Given the description of an element on the screen output the (x, y) to click on. 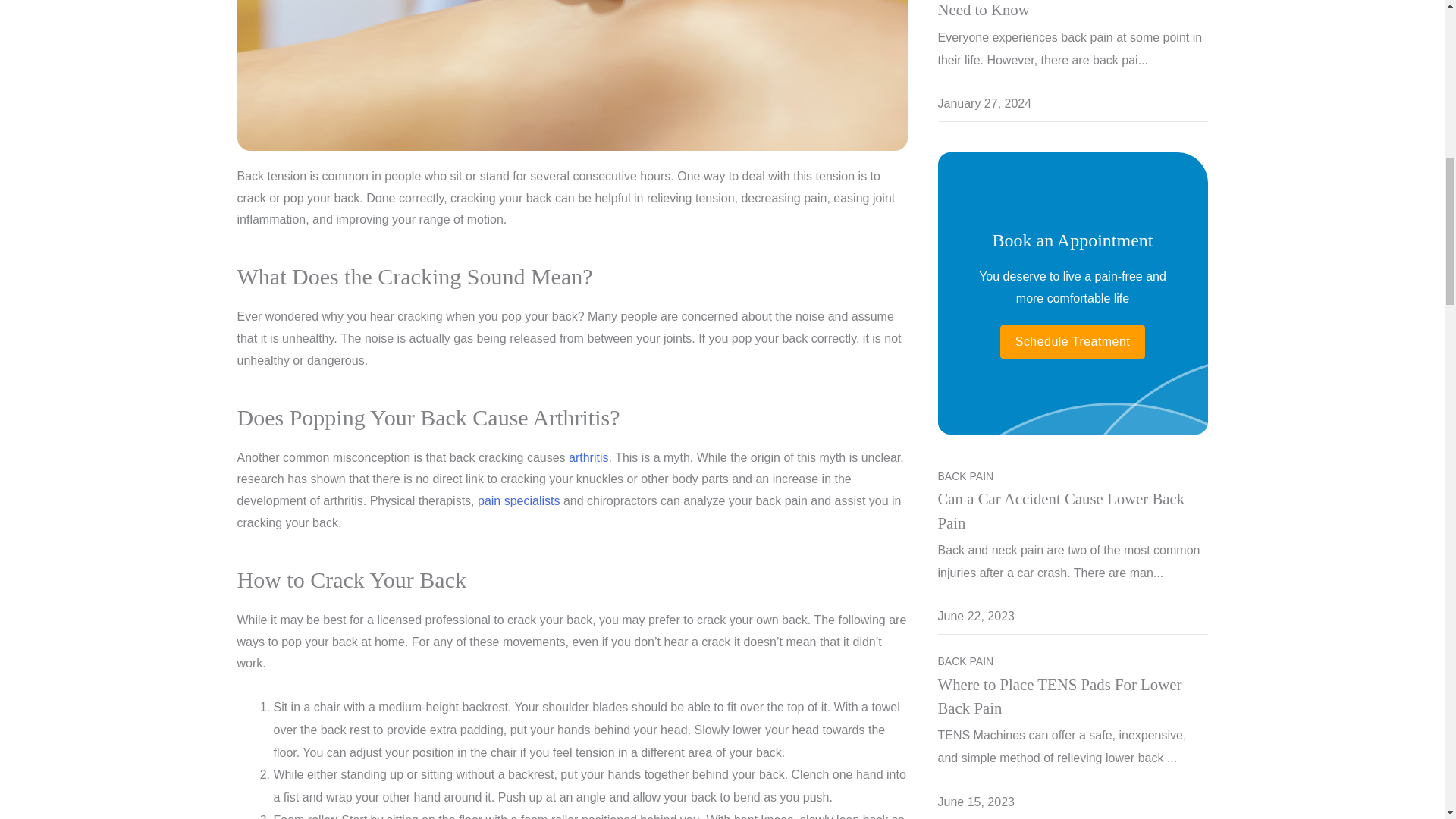
How To Crack Your Back (571, 75)
